Given the description of an element on the screen output the (x, y) to click on. 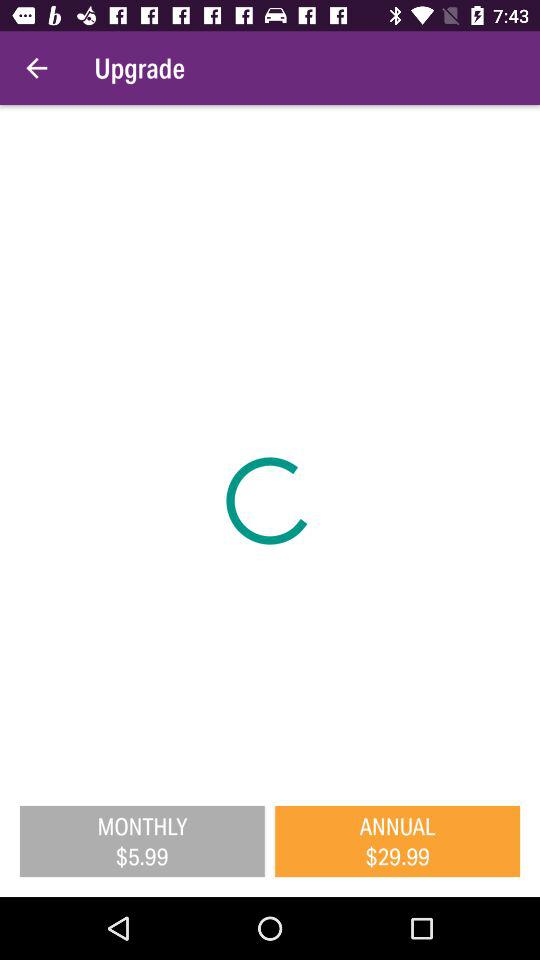
jump until the monthly
$5.99 item (141, 841)
